Given the description of an element on the screen output the (x, y) to click on. 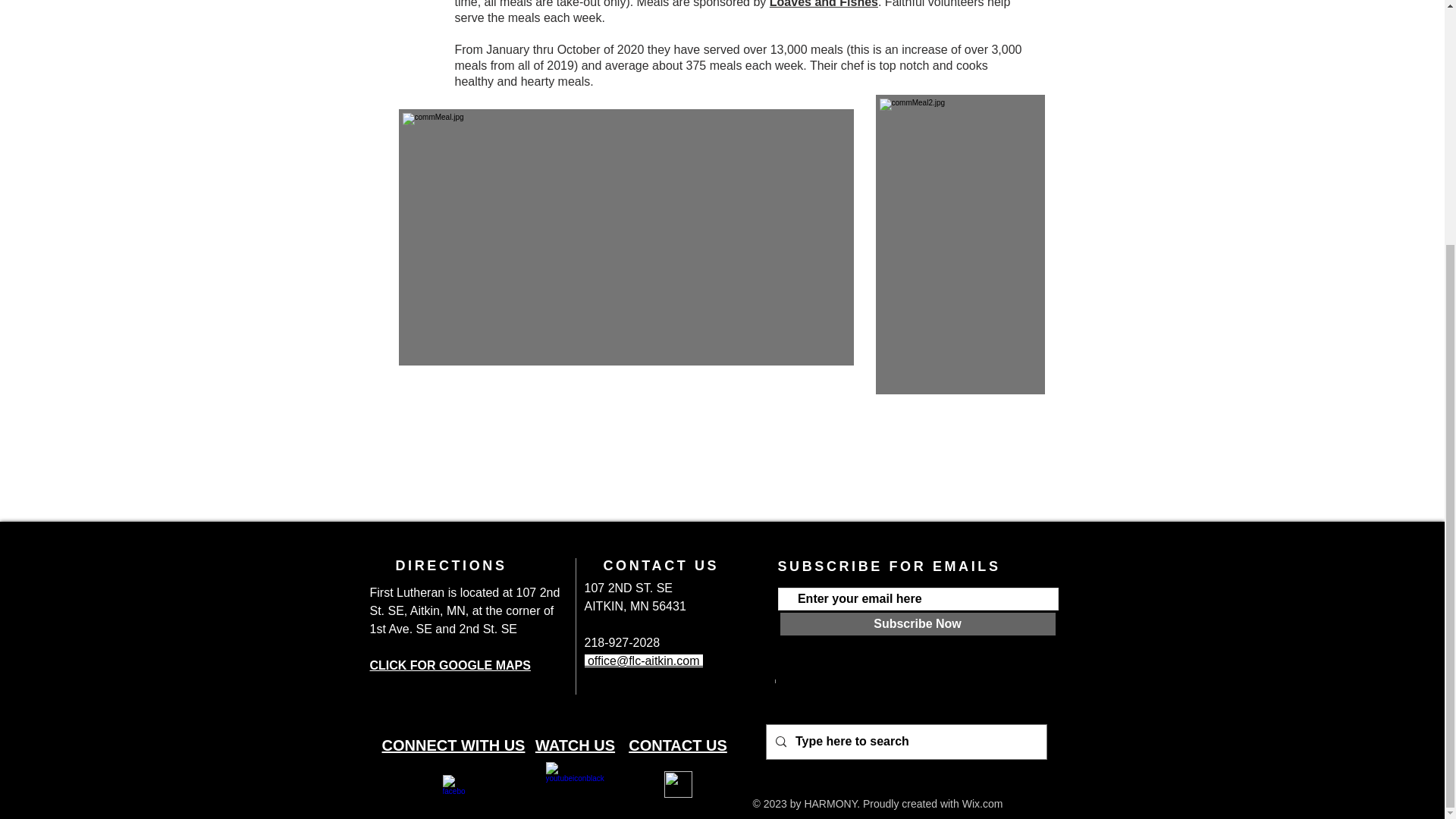
Loaves and Fishes (823, 4)
CLICK FOR GOOGLE MAPS (450, 665)
Subscribe Now (916, 623)
CONTACT US (677, 745)
CONNECT WITH US (453, 745)
Wix.com (982, 803)
